Given the description of an element on the screen output the (x, y) to click on. 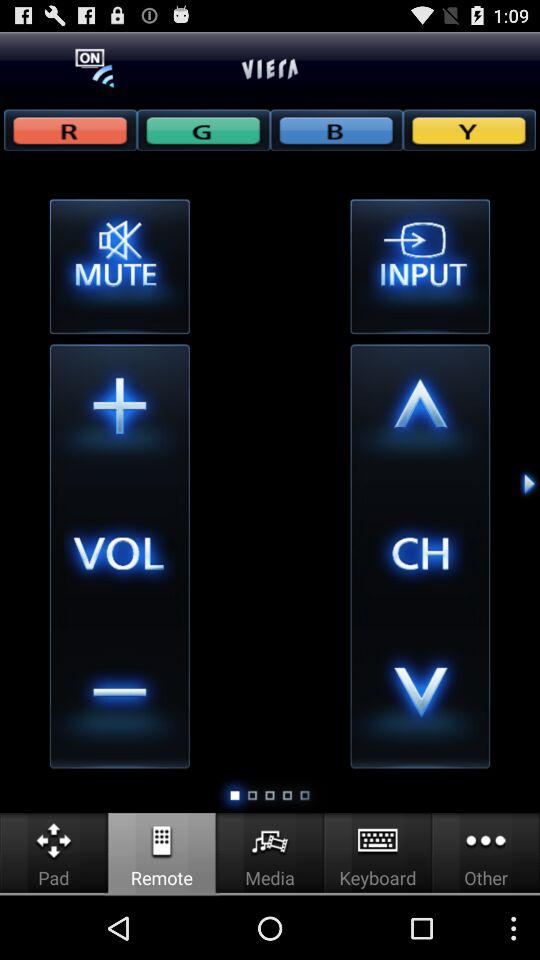
go to previous channel (420, 698)
